Given the description of an element on the screen output the (x, y) to click on. 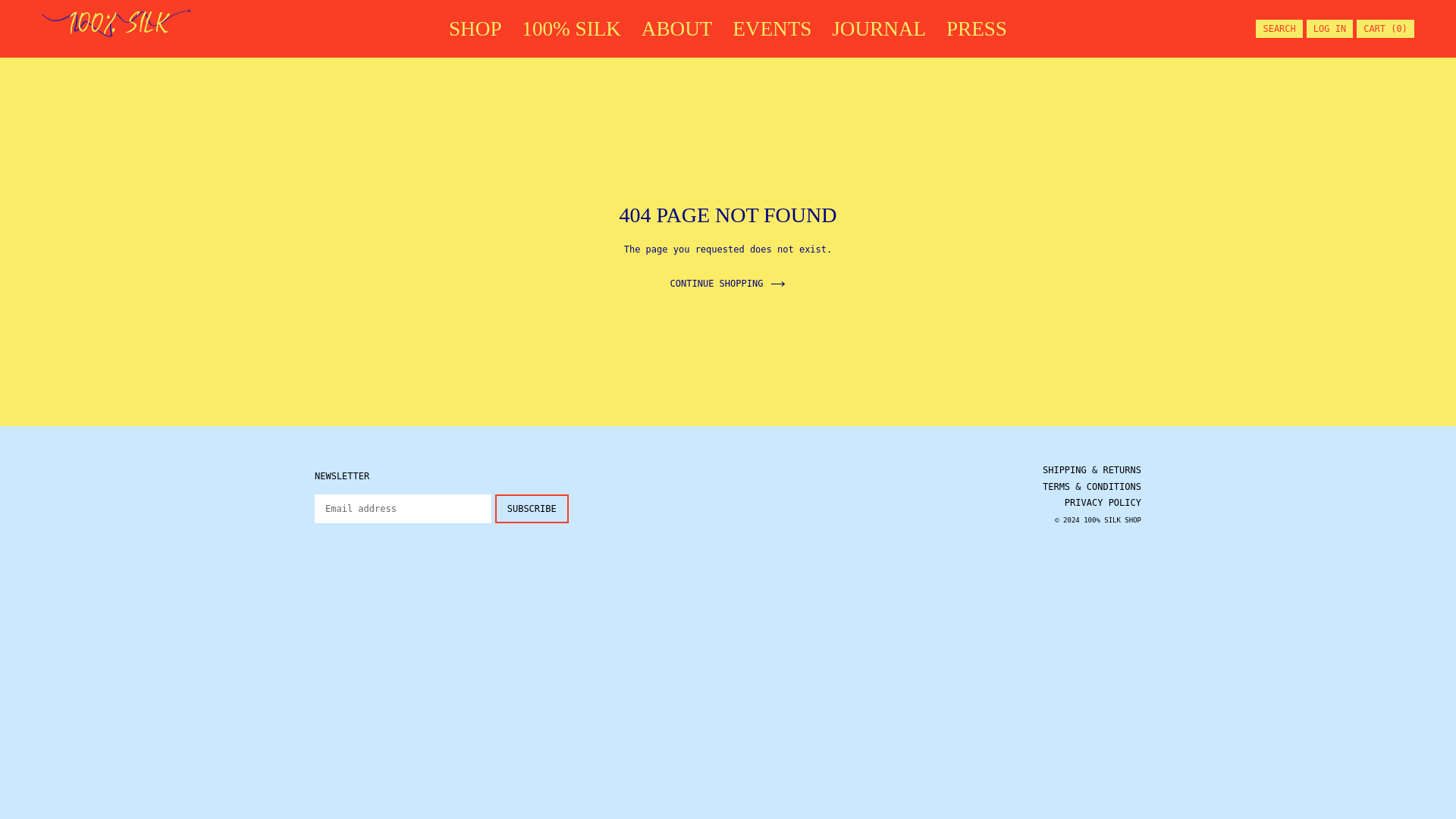
EVENTS (771, 28)
PRESS (976, 28)
LOG IN (1329, 28)
SEARCH (1278, 28)
JOURNAL (878, 28)
SHOP (475, 28)
ABOUT (676, 28)
